Given the description of an element on the screen output the (x, y) to click on. 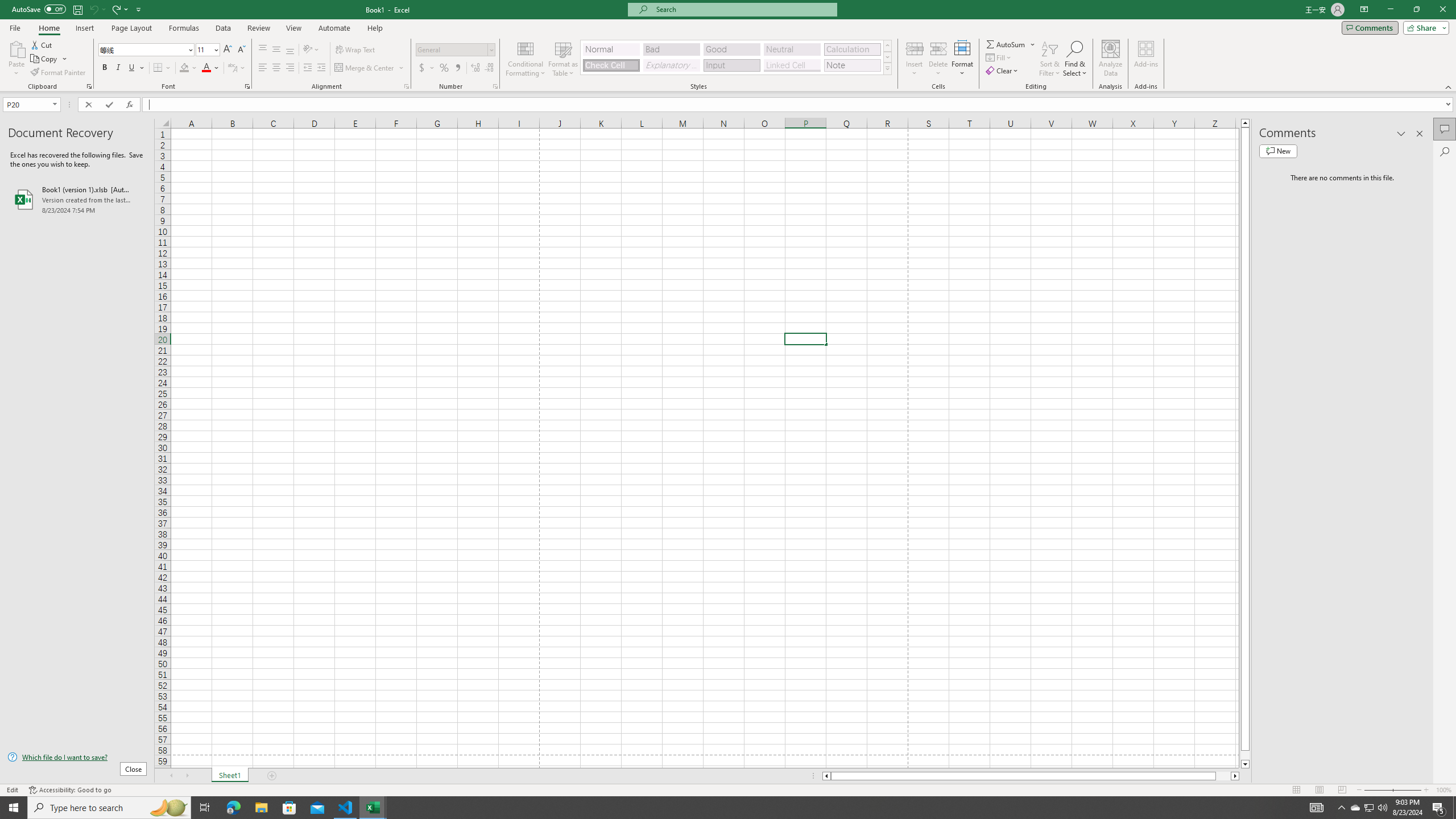
Delete (938, 58)
Review (258, 28)
Decrease Indent (307, 67)
Linked Cell (791, 65)
Class: NetUIScrollBar (1030, 775)
Show Phonetic Field (236, 67)
Orientation (311, 49)
More Options (1033, 44)
Center (276, 67)
Zoom Out (1377, 790)
Bad (671, 49)
Bottom Border (157, 67)
Font (147, 49)
Underline (136, 67)
Book1 (version 1).xlsb  [AutoRecovered] (77, 199)
